Given the description of an element on the screen output the (x, y) to click on. 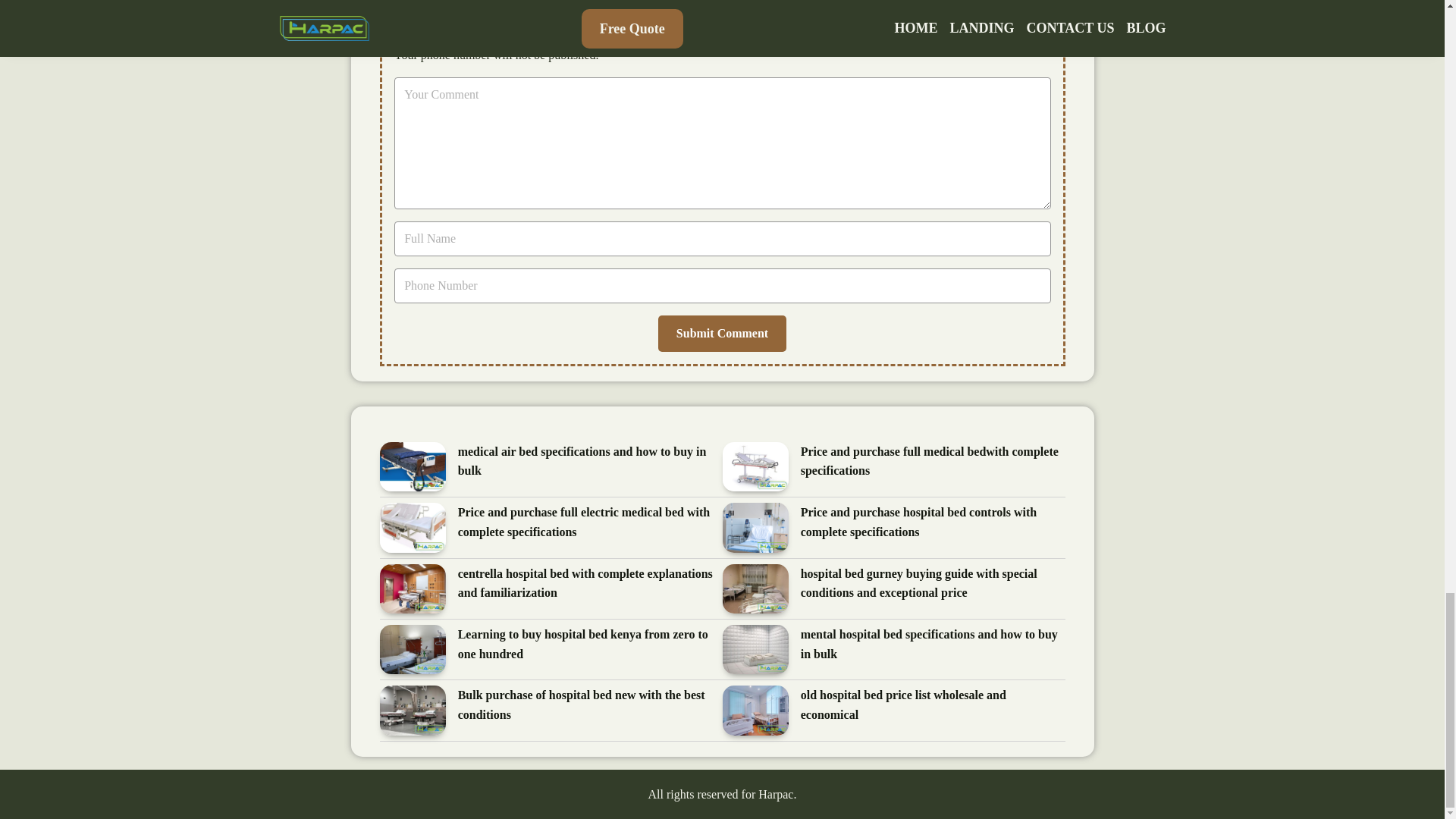
Submit Comment (722, 333)
Bulk purchase of hospital bed new with the best conditions (590, 704)
medical air bed specifications and how to buy in bulk (590, 461)
Learning to buy hospital bed kenya from zero to one hundred (590, 644)
Submit Comment (722, 333)
mental hospital bed specifications and how to buy in bulk (932, 644)
old hospital bed price list wholesale and economical (932, 704)
